Given the description of an element on the screen output the (x, y) to click on. 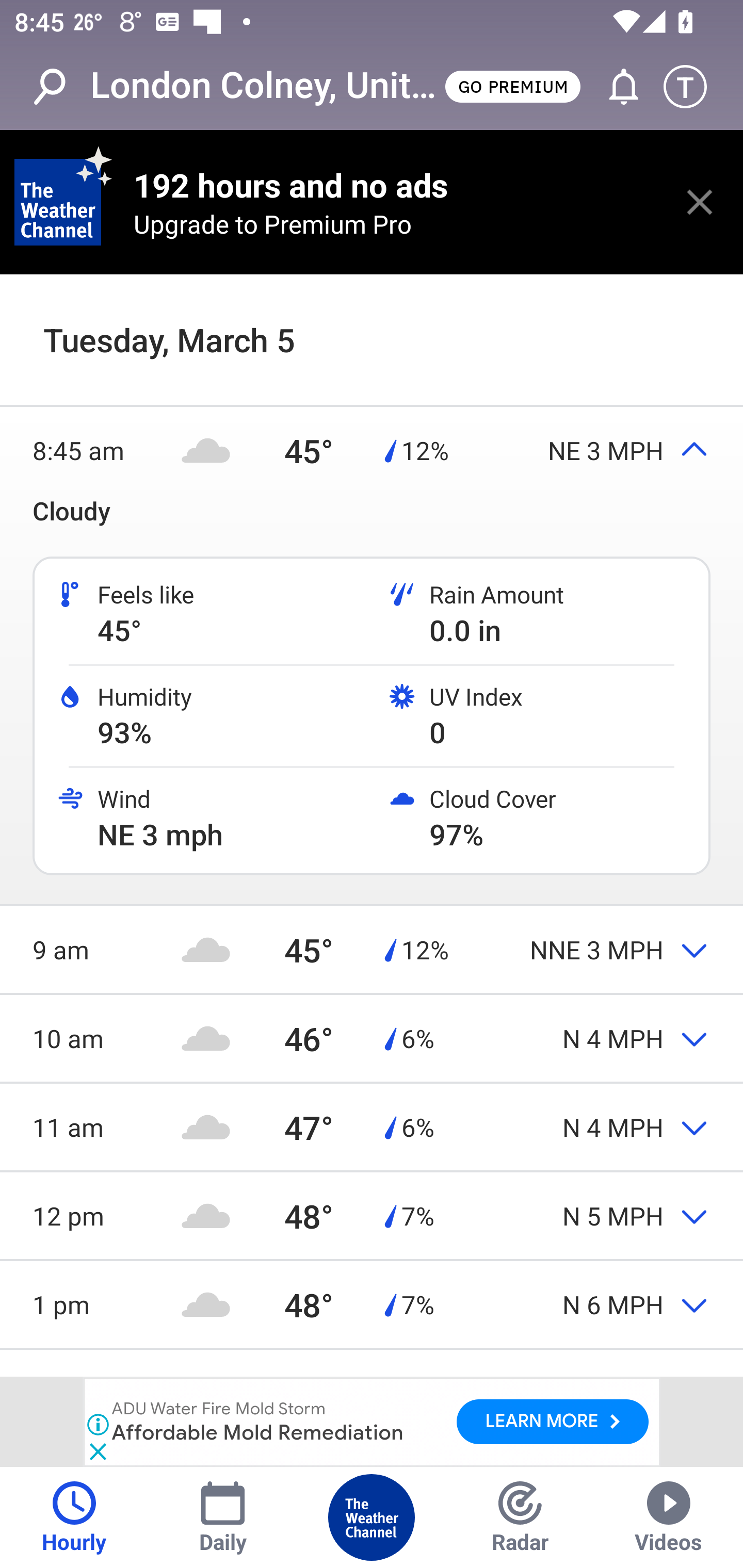
Search (59, 86)
Go to Alerts and Notifications (614, 86)
Setting icon T (694, 86)
London Colney, United Kingdom (265, 85)
GO PREMIUM (512, 85)
close this (699, 202)
8:45 am 45° 12% NE 3 MPH (371, 450)
9 am 45° 12% NNE 3 MPH (371, 949)
10 am 46° 6% N 4 MPH (371, 1038)
11 am 47° 6% N 4 MPH (371, 1126)
12 pm 48° 7% N 5 MPH (371, 1215)
1 pm 48° 7% N 6 MPH (371, 1304)
ADU Water Fire Mold Storm (218, 1410)
LEARN MORE (551, 1421)
Affordable Mold Remediation (258, 1432)
Daily Tab Daily (222, 1517)
Home Tab (371, 1517)
Radar Tab Radar (519, 1517)
Videos Tab Videos (668, 1517)
